Given the description of an element on the screen output the (x, y) to click on. 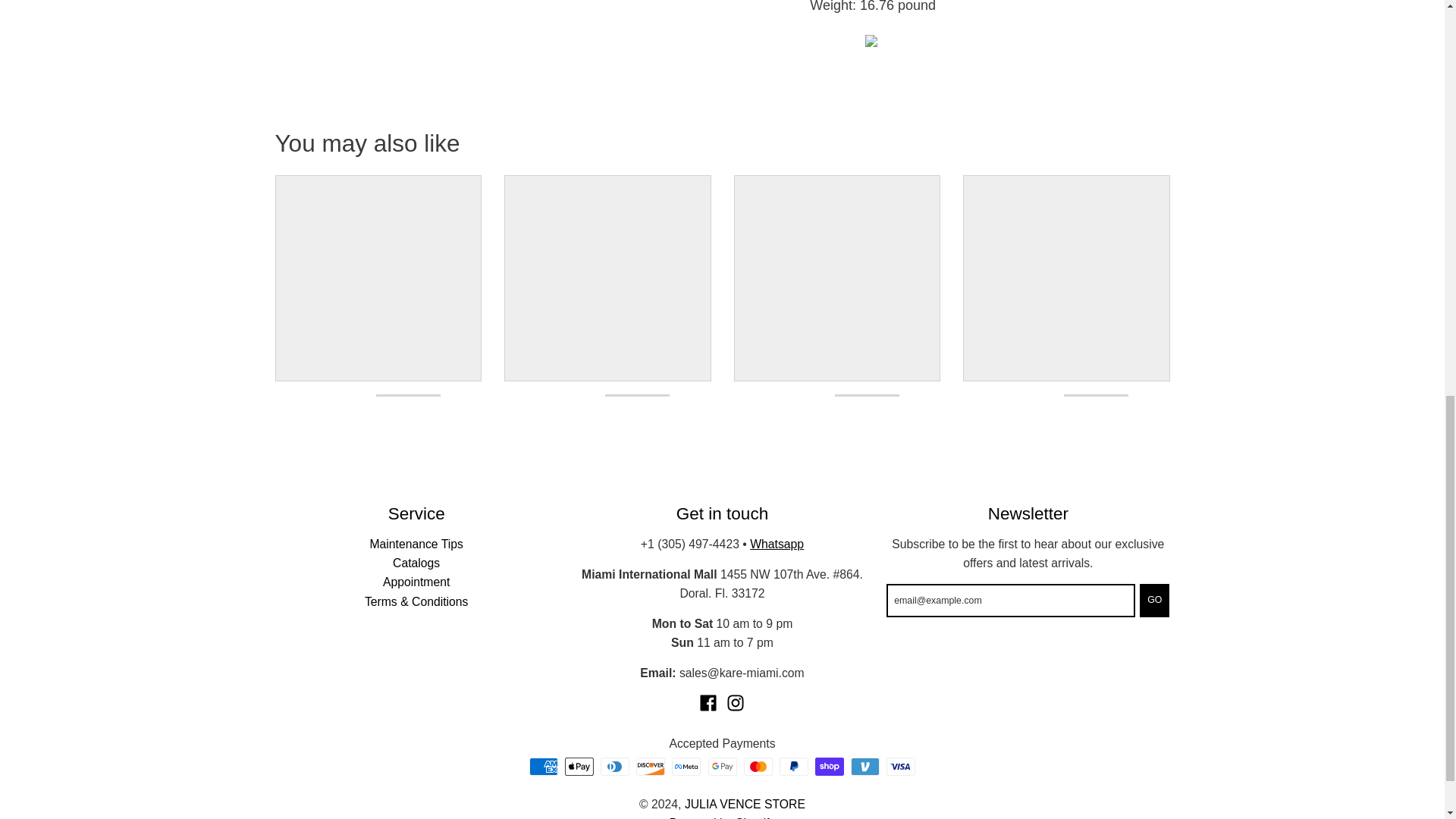
Instagram - JULIA VENCE STORE (735, 702)
Facebook - JULIA VENCE STORE (707, 702)
